Given the description of an element on the screen output the (x, y) to click on. 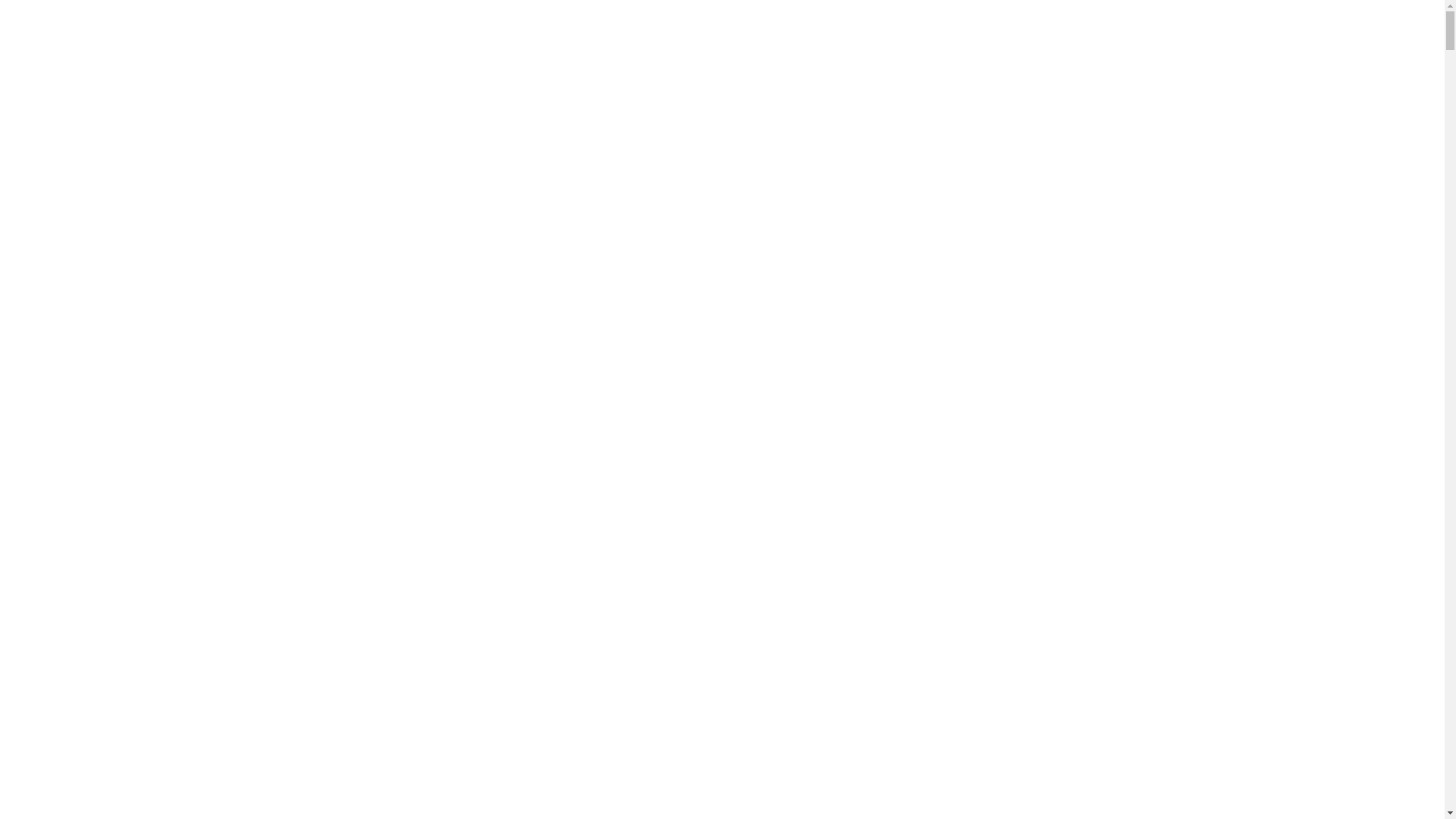
Rent Element type: text (35, 76)
Contact Element type: text (42, 238)
Services Element type: text (44, 116)
Renting Property Element type: text (79, 177)
Blog Element type: text (34, 217)
Home Element type: text (38, 15)
Services Element type: text (761, 39)
About Us Element type: text (676, 39)
Buying Property Element type: text (77, 137)
Buy Element type: text (33, 56)
Off Plan Element type: text (485, 39)
About Us Element type: text (46, 96)
Rent Element type: text (606, 39)
Selling Property Element type: text (76, 156)
Off Plan Element type: text (43, 36)
Home Element type: text (417, 39)
Buy Element type: text (550, 39)
Enquire Now Element type: text (1060, 39)
Property Management Element type: text (91, 197)
